Given the description of an element on the screen output the (x, y) to click on. 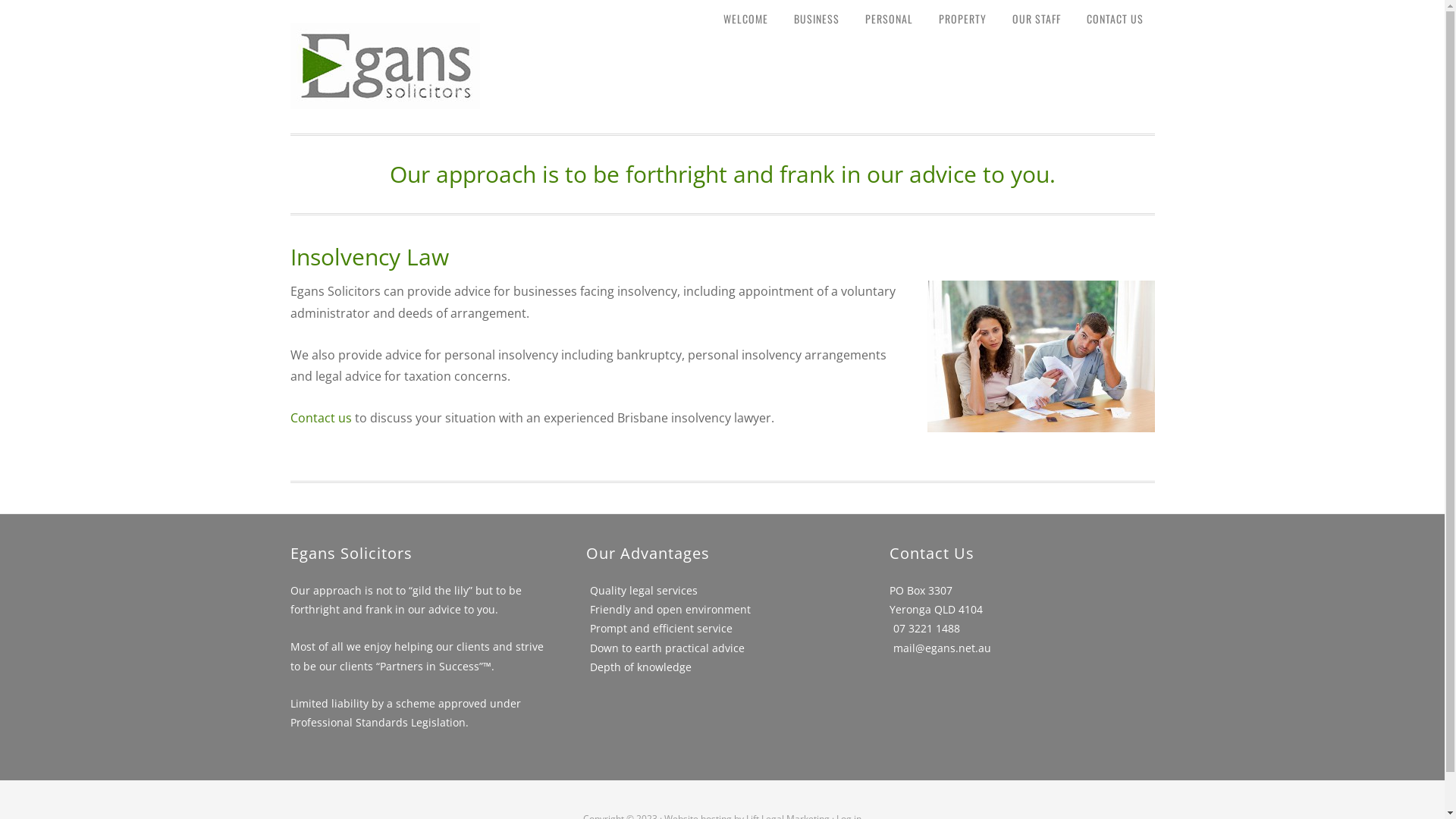
WELCOME Element type: text (744, 18)
mail@egans.net.au Element type: text (942, 647)
OUR STAFF Element type: text (1036, 18)
CONTACT US Element type: text (1114, 18)
Contact us Element type: text (320, 417)
BUSINESS Element type: text (816, 18)
PROPERTY Element type: text (961, 18)
Skip to primary navigation Element type: text (0, 0)
PERSONAL Element type: text (888, 18)
Egans Solicitors Element type: hover (384, 100)
